Given the description of an element on the screen output the (x, y) to click on. 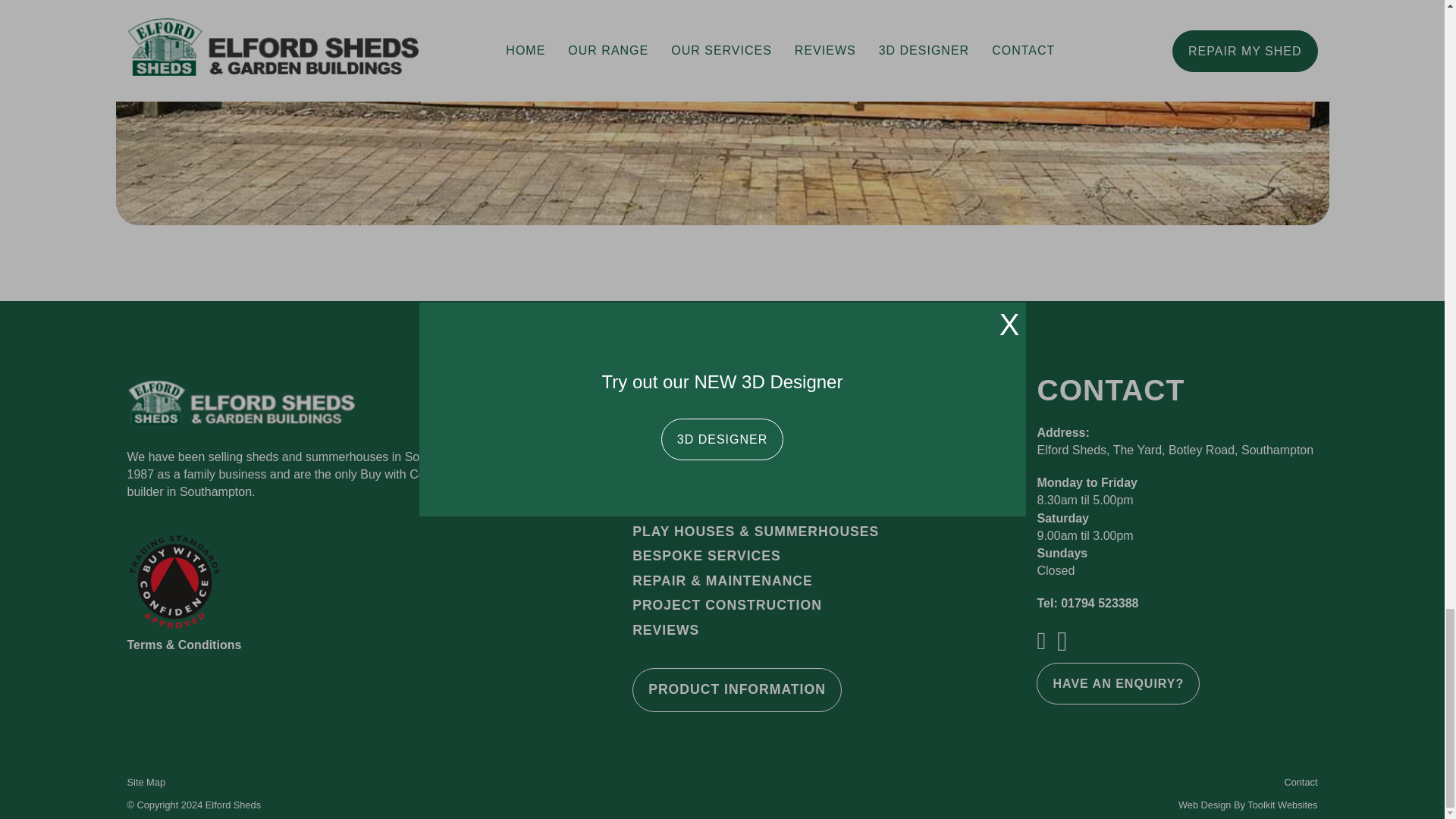
BESPOKE SERVICES (705, 556)
PROJECT CONSTRUCTION (726, 605)
HOME (653, 433)
GET IN TOUCH (734, 57)
